Given the description of an element on the screen output the (x, y) to click on. 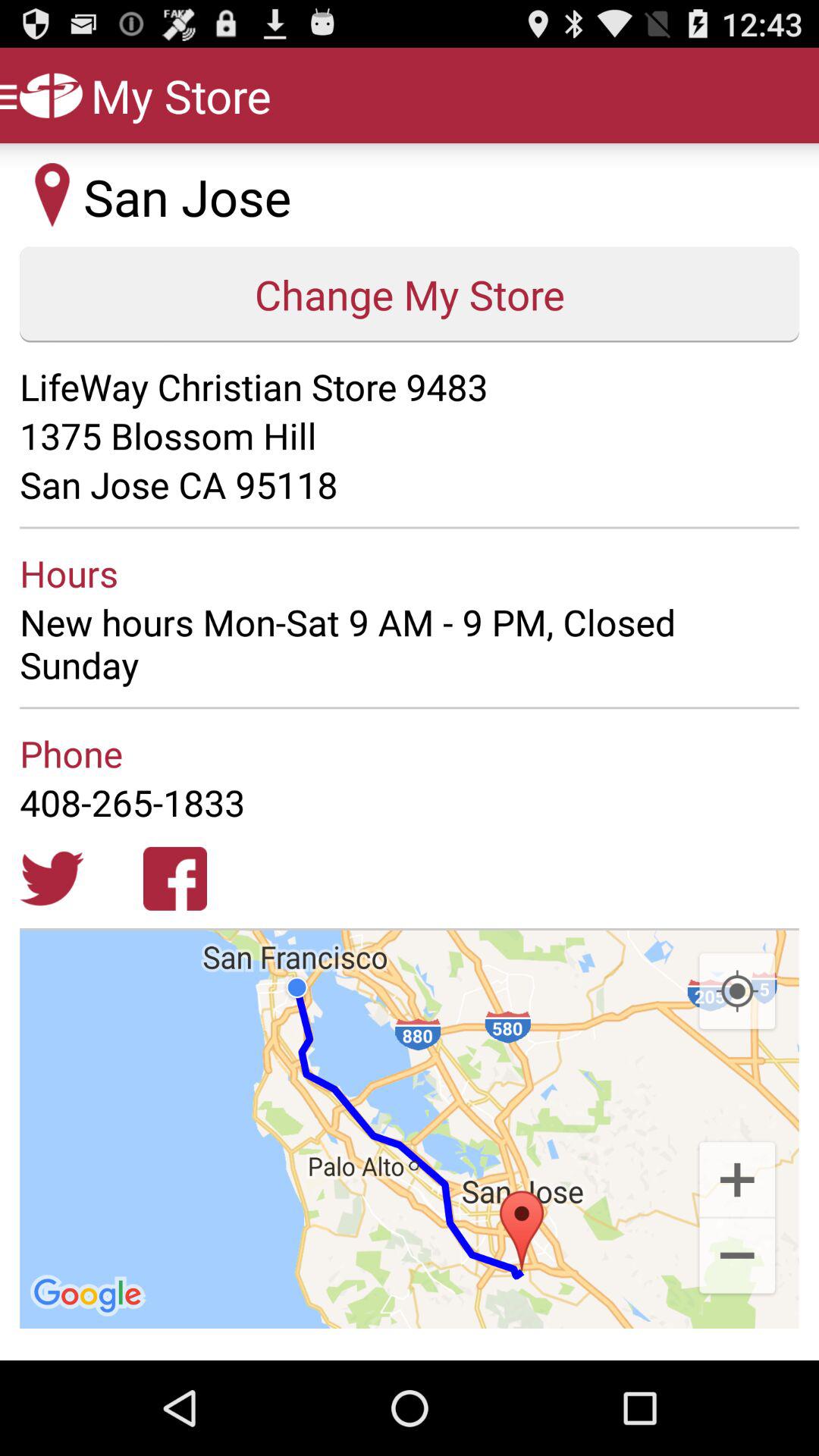
open facebook page (175, 878)
